Given the description of an element on the screen output the (x, y) to click on. 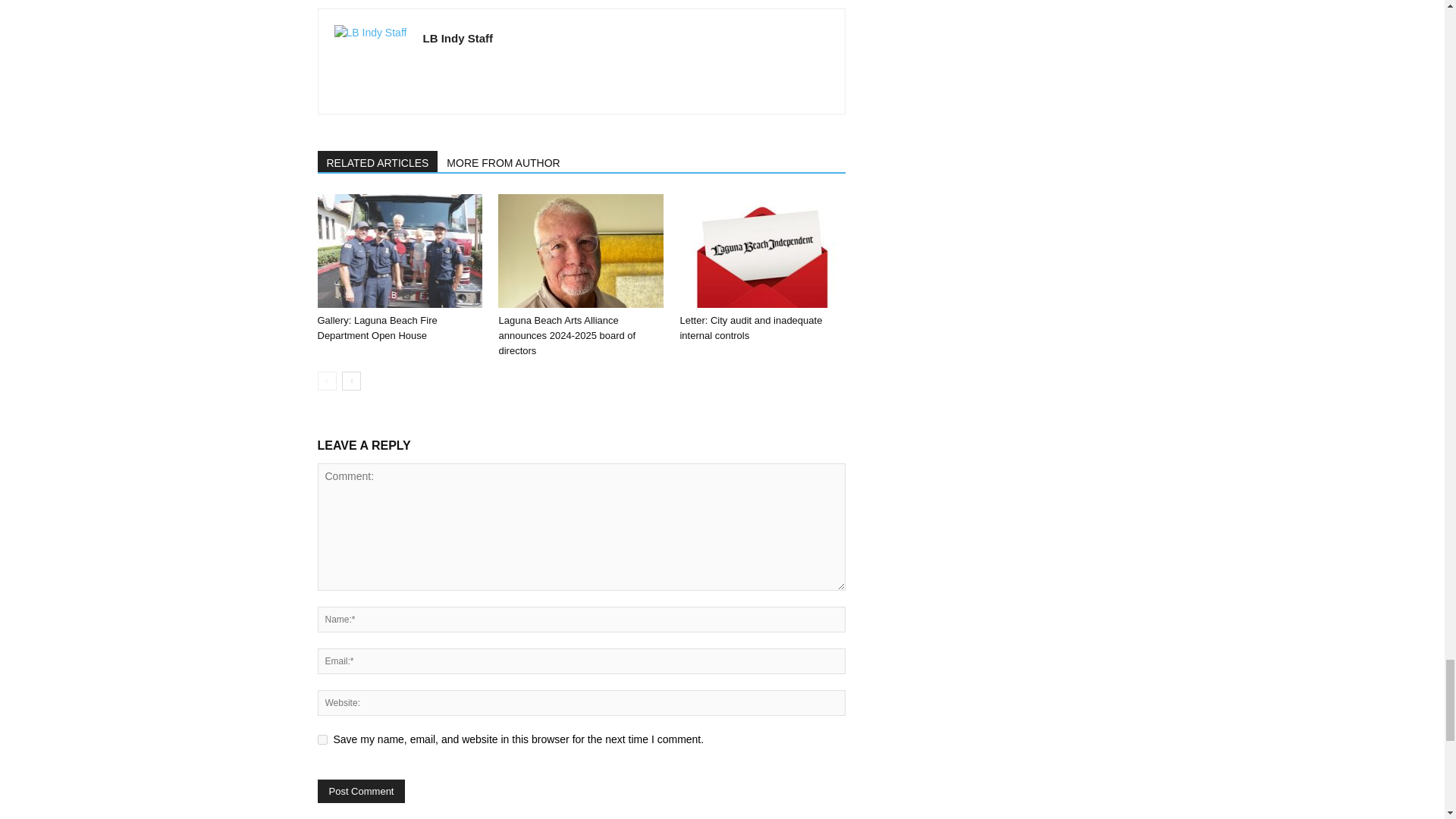
Post Comment (360, 791)
yes (321, 739)
